Given the description of an element on the screen output the (x, y) to click on. 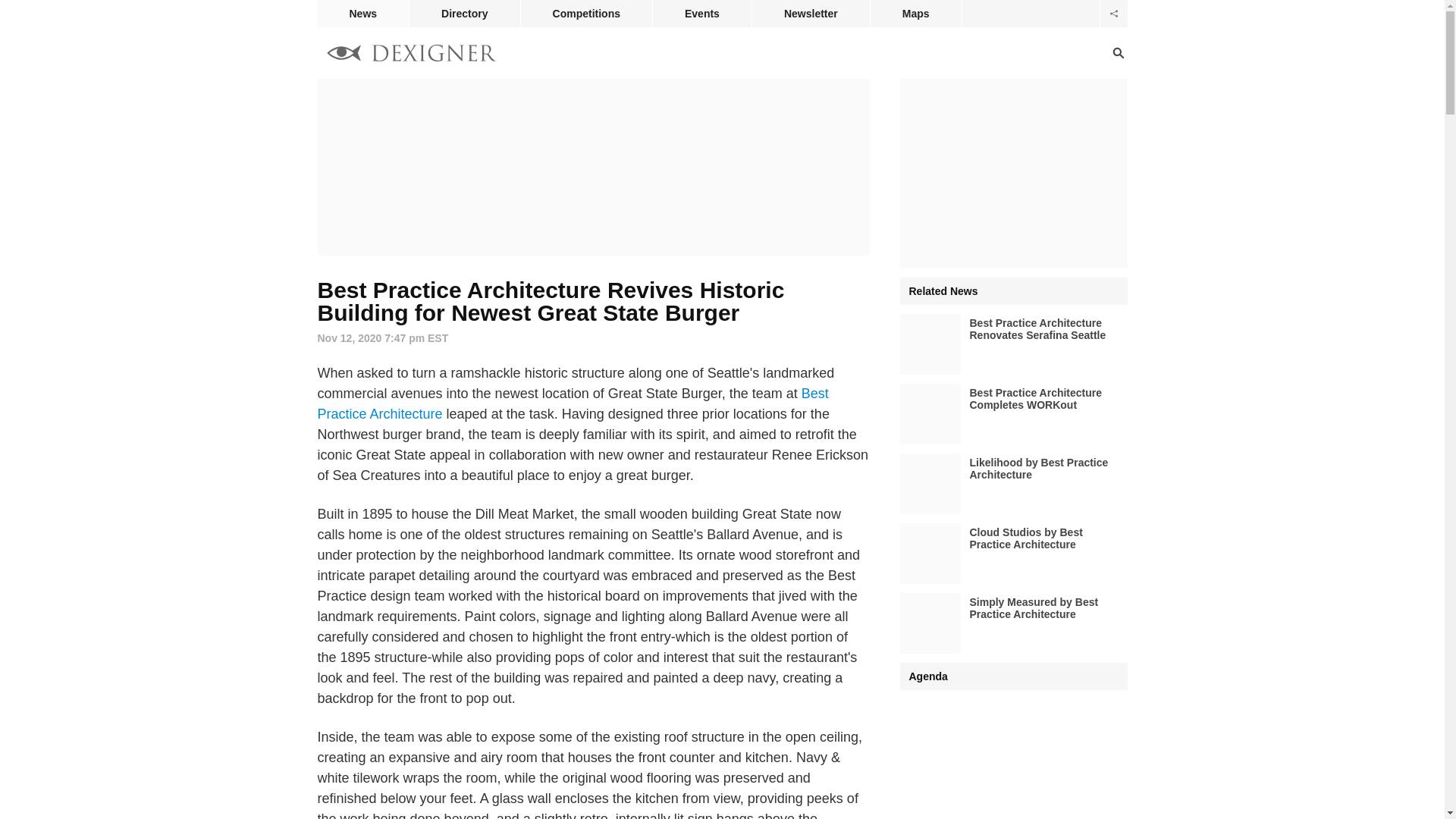
Best Practice Architecture Completes WORKout (1012, 414)
Best Practice Architecture (572, 403)
Newsletter (810, 13)
Dexigner (411, 54)
News (363, 13)
Maps (915, 13)
Directory (464, 13)
Events (701, 13)
Likelihood by Best Practice Architecture (1012, 483)
Cloud Studios by Best Practice Architecture (1012, 553)
follow dexigner (1112, 13)
Simply Measured by Best Practice Architecture (1012, 622)
Competitions (586, 13)
Best Practice Architecture Renovates Serafina Seattle (1012, 343)
